Given the description of an element on the screen output the (x, y) to click on. 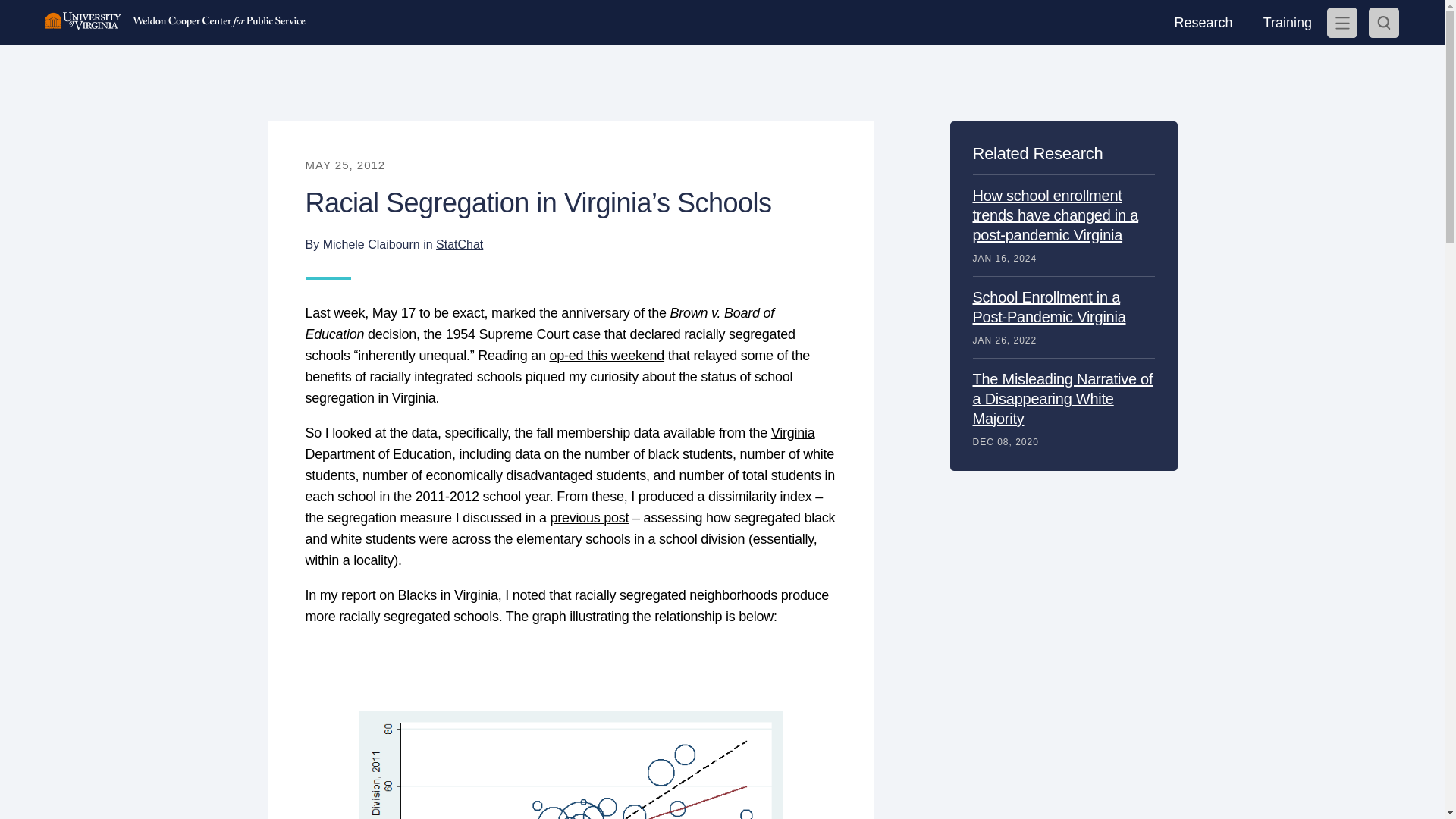
Blacks in Virginia (447, 595)
StatChat (459, 244)
op-ed this weekend (605, 355)
Virginia Department of Education (558, 443)
seg1.png (570, 764)
School Enrollment in a Post-Pandemic Virginia (1048, 307)
Training (1287, 22)
previous post (589, 517)
